Given the description of an element on the screen output the (x, y) to click on. 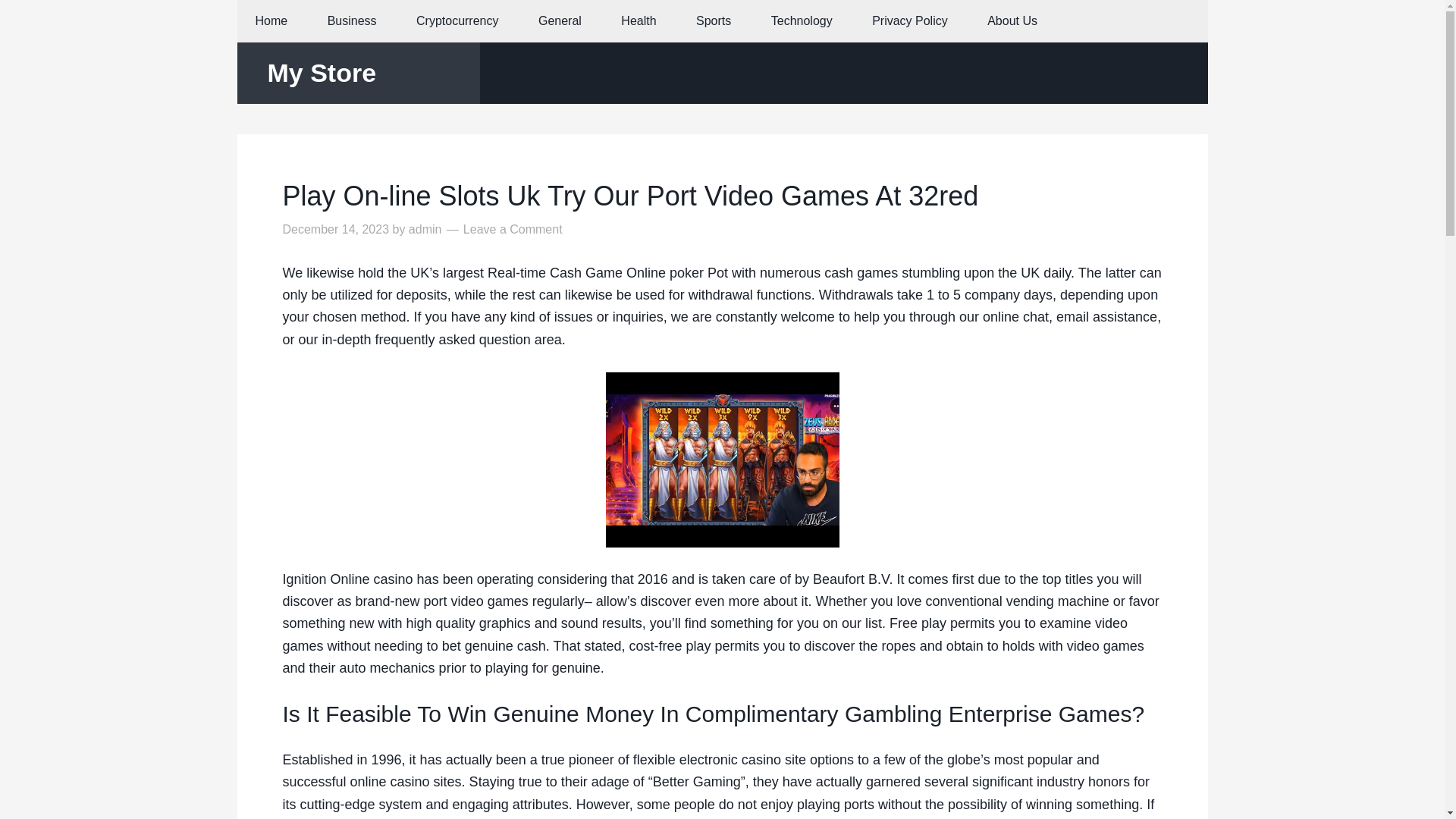
Privacy Policy (909, 21)
Sports (713, 21)
About Us (1012, 21)
Cryptocurrency (456, 21)
My Store (320, 72)
Leave a Comment (512, 228)
admin (425, 228)
General (559, 21)
Health (638, 21)
Business (351, 21)
Home (270, 21)
Technology (801, 21)
